Given the description of an element on the screen output the (x, y) to click on. 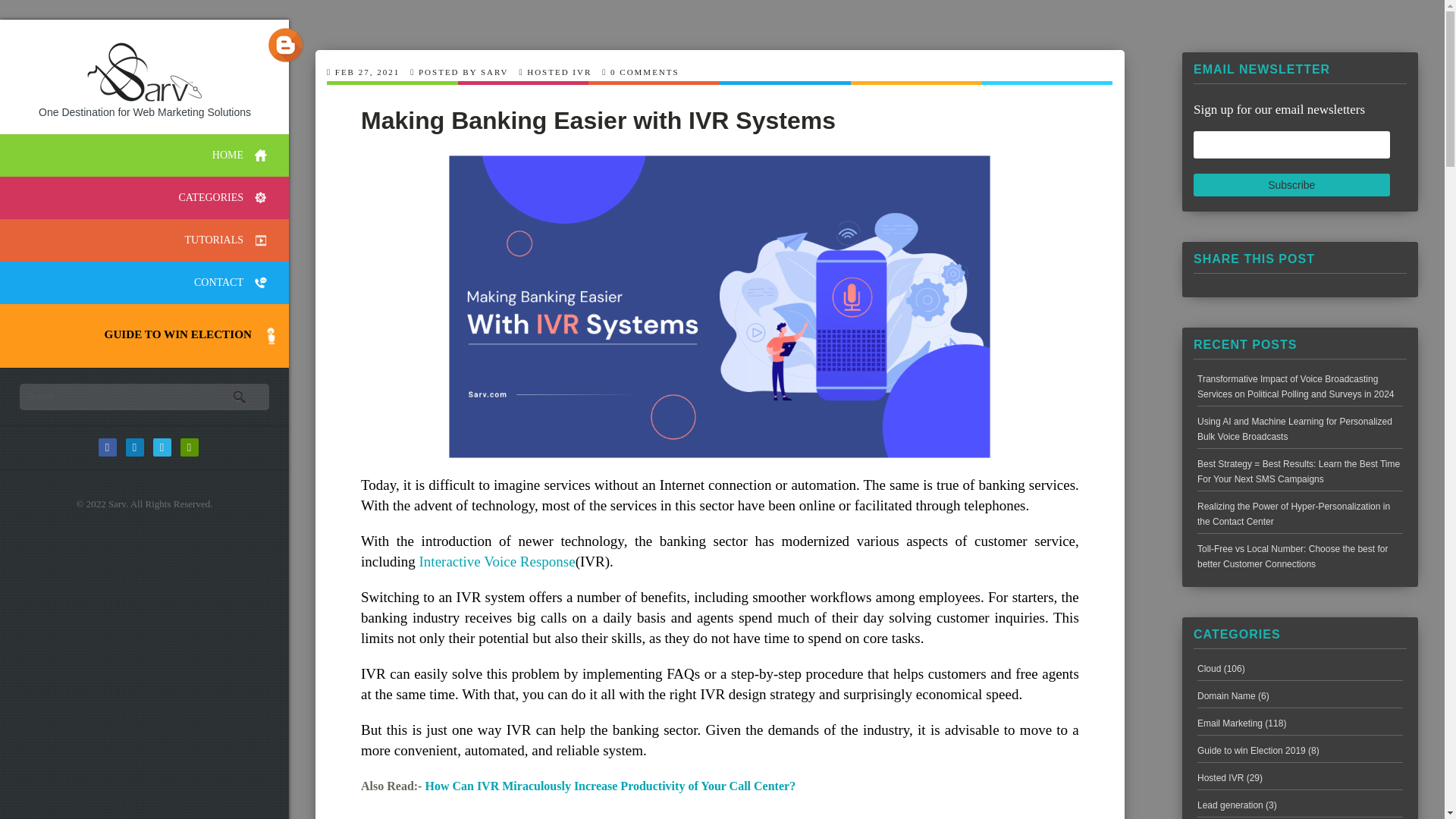
CATEGORIES (144, 197)
Subscribe (1291, 184)
Comment on Making Banking Easier with IVR Systems (644, 71)
0 COMMENTS (644, 71)
Interactive Voice Response (497, 561)
Sarv Blog (285, 45)
Sarv Blog (144, 62)
TUTORIALS (144, 240)
HOSTED IVR (559, 71)
Making Banking Easier with IVR Systems (598, 120)
HOME (144, 155)
GUIDE TO WIN ELECTION (139, 333)
IVR Service Provider in India (497, 561)
